Given the description of an element on the screen output the (x, y) to click on. 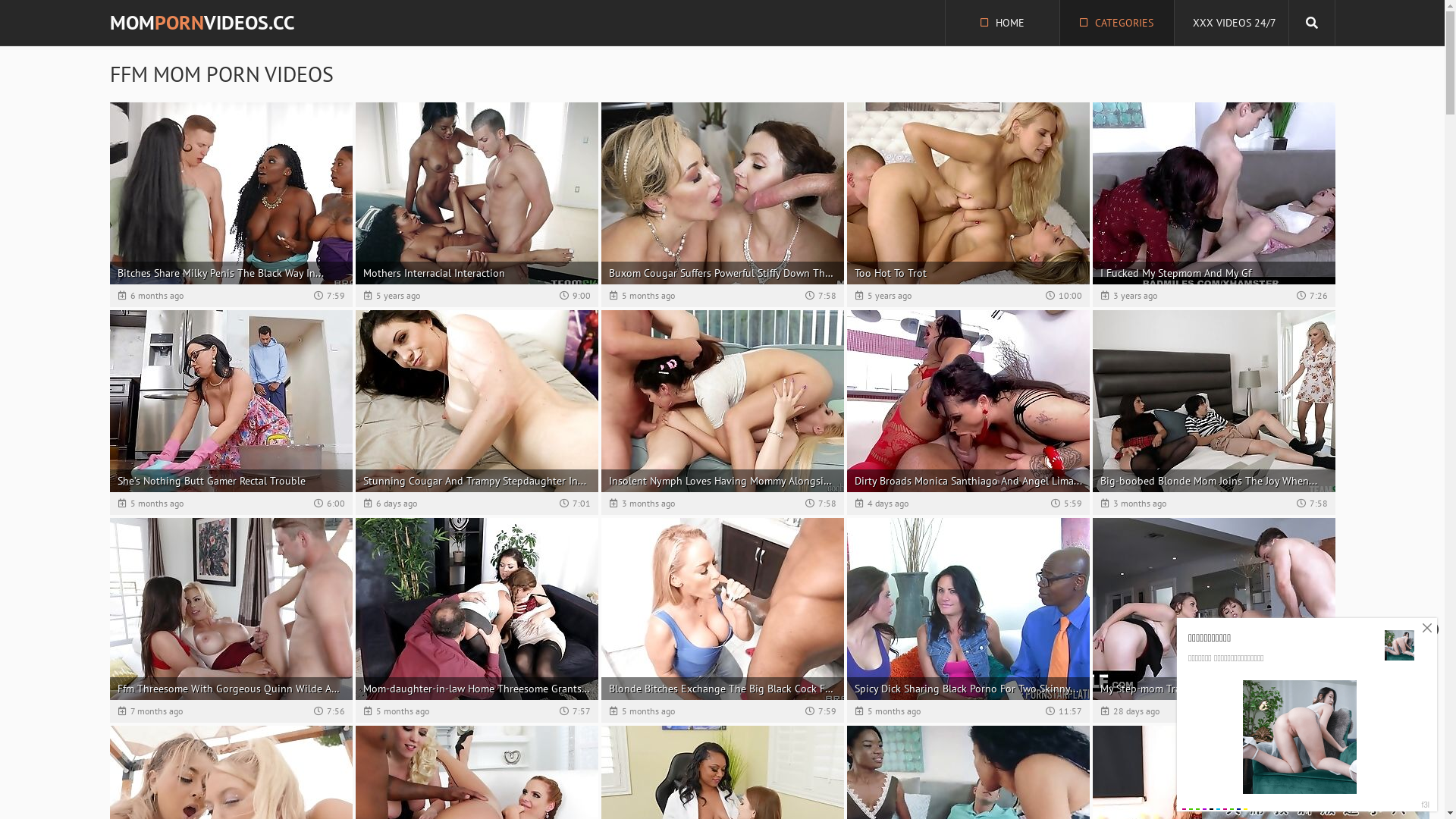
MOMPORNVIDEOS.CC Element type: text (201, 22)
Mothers Interracial Interaction
5 years ago
9:00 Element type: text (475, 204)
XXX VIDEOS 24/7 Element type: text (1230, 22)
I Fucked My Stepmom And My Gf
3 years ago
7:26 Element type: text (1213, 204)
HOME Element type: text (1001, 22)
Too Hot To Trot
5 years ago
10:00 Element type: text (967, 204)
CATEGORIES Element type: text (1116, 22)
